Given the description of an element on the screen output the (x, y) to click on. 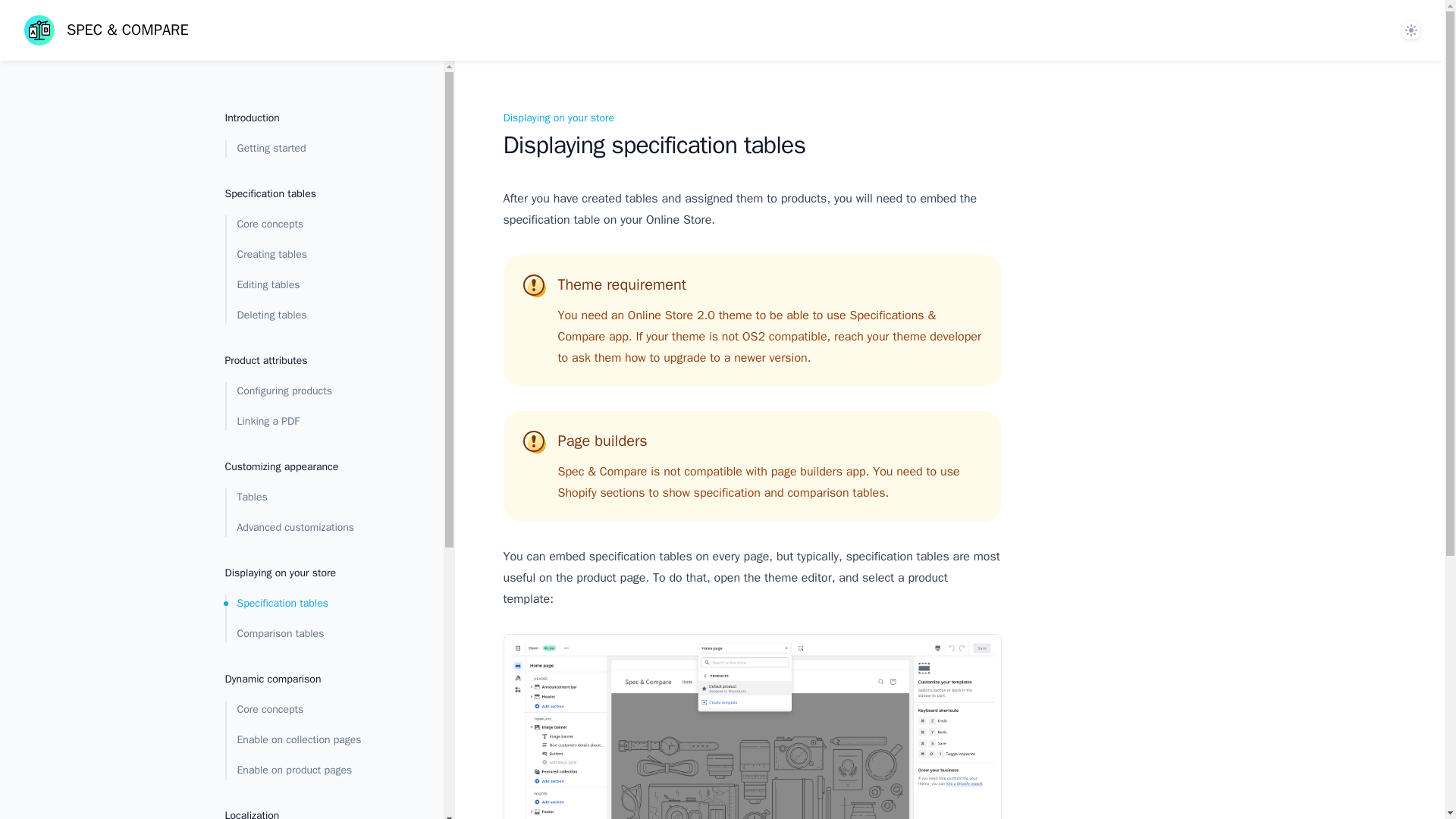
Getting started (309, 148)
Comparison tables (309, 633)
Enable on collection pages (309, 740)
Editing tables (309, 285)
Advanced customizations (309, 527)
Enable on product pages (309, 770)
Deleting tables (309, 315)
Core concepts (309, 224)
Linking a PDF (309, 421)
Creating tables (309, 254)
Core concepts (309, 710)
Tables (309, 497)
Specification tables (309, 603)
Configuring products (309, 391)
